Given the description of an element on the screen output the (x, y) to click on. 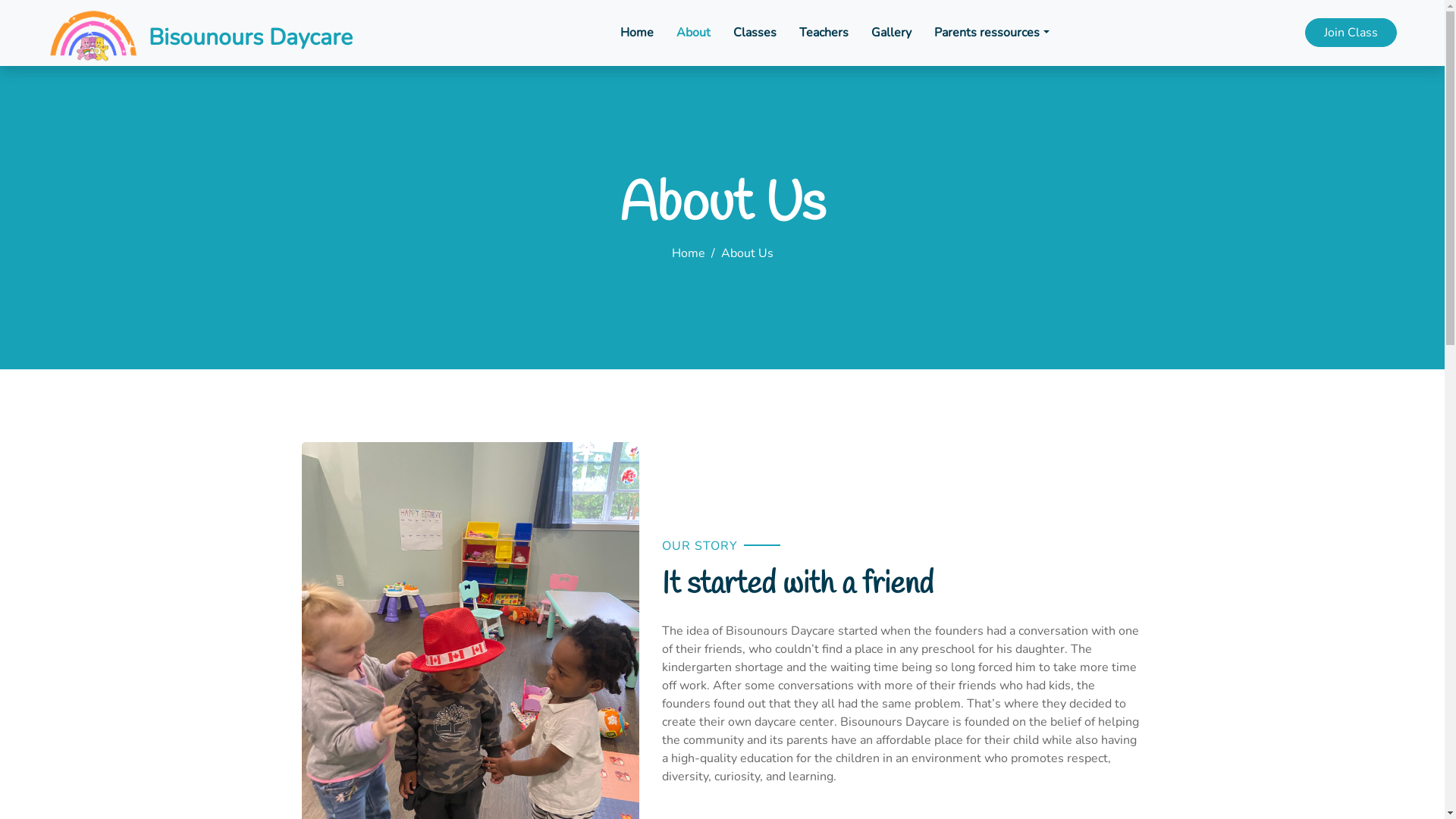
Bisounours Daycare Element type: text (199, 32)
Teachers Element type: text (823, 32)
About Element type: text (693, 32)
Join Class Element type: text (1350, 32)
Gallery Element type: text (890, 32)
Home Element type: text (636, 32)
Home Element type: text (688, 252)
Classes Element type: text (754, 32)
Parents ressources Element type: text (991, 32)
